Given the description of an element on the screen output the (x, y) to click on. 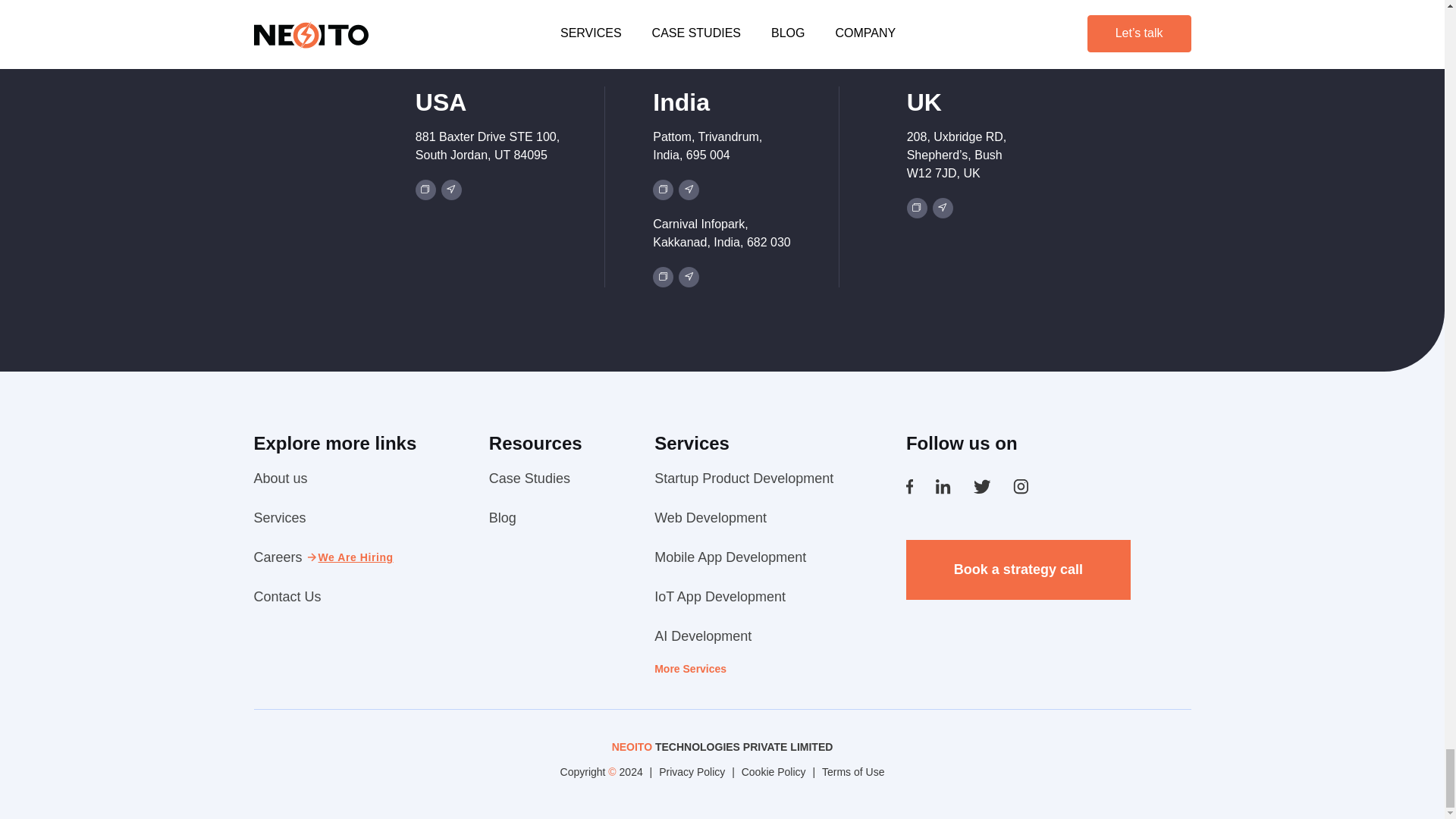
Twitter (982, 486)
Linkedin (943, 486)
Instagram (1020, 486)
